Given the description of an element on the screen output the (x, y) to click on. 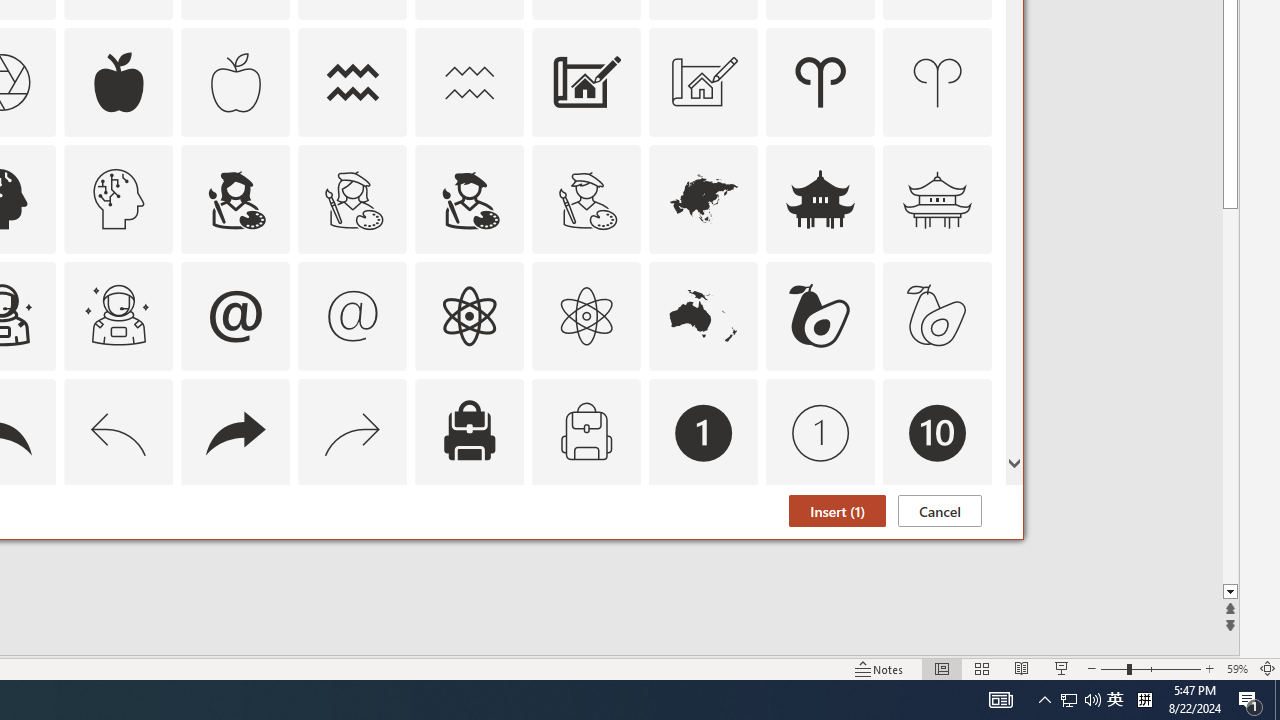
AutomationID: Icons_ArtistFemale (235, 198)
AutomationID: Icons_Badge6 (118, 550)
AutomationID: Icons_Badge1_M (820, 432)
AutomationID: Icons_Australia (703, 316)
Thumbnail (977, 511)
